Given the description of an element on the screen output the (x, y) to click on. 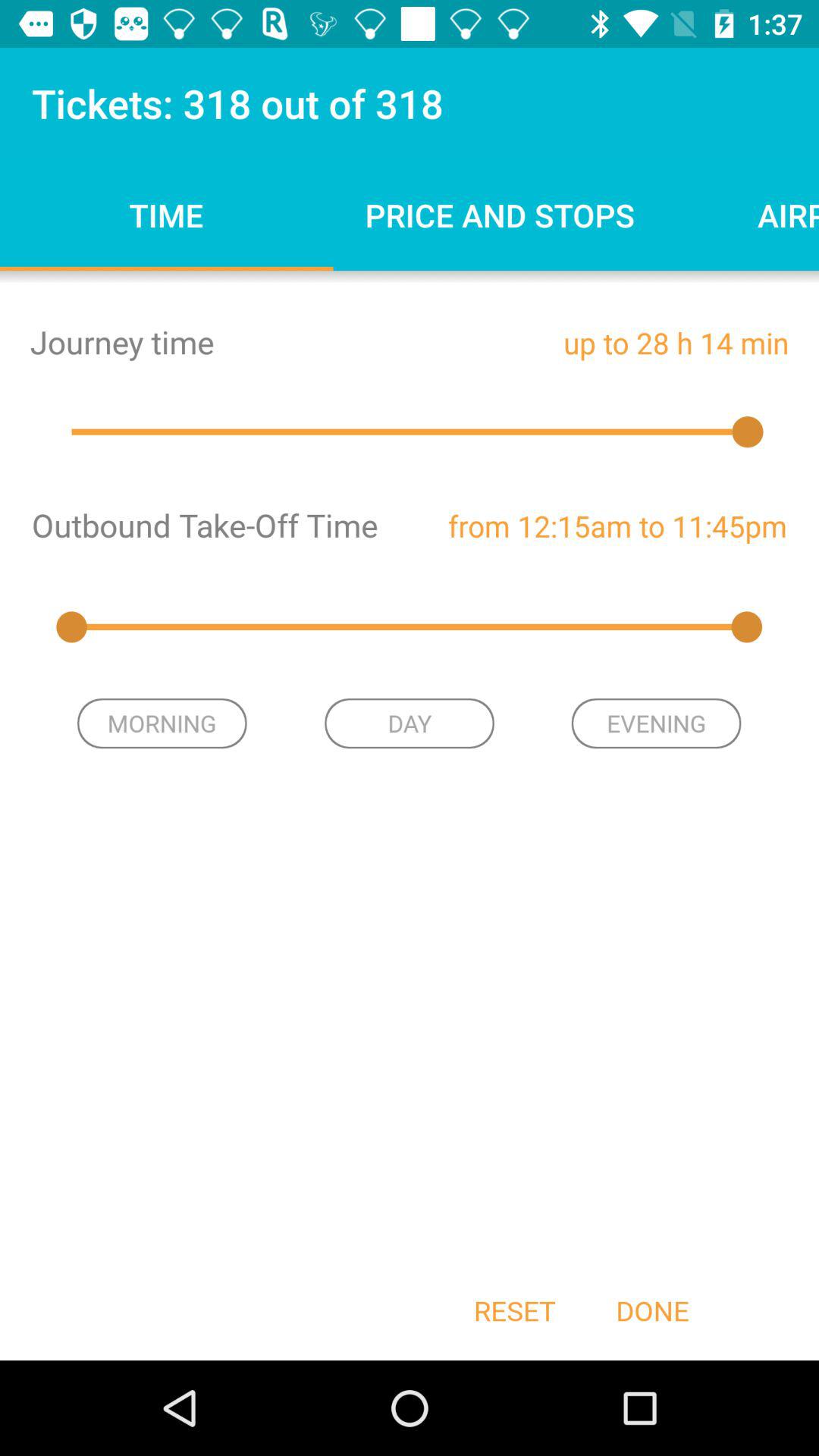
flip until the morning (161, 723)
